Given the description of an element on the screen output the (x, y) to click on. 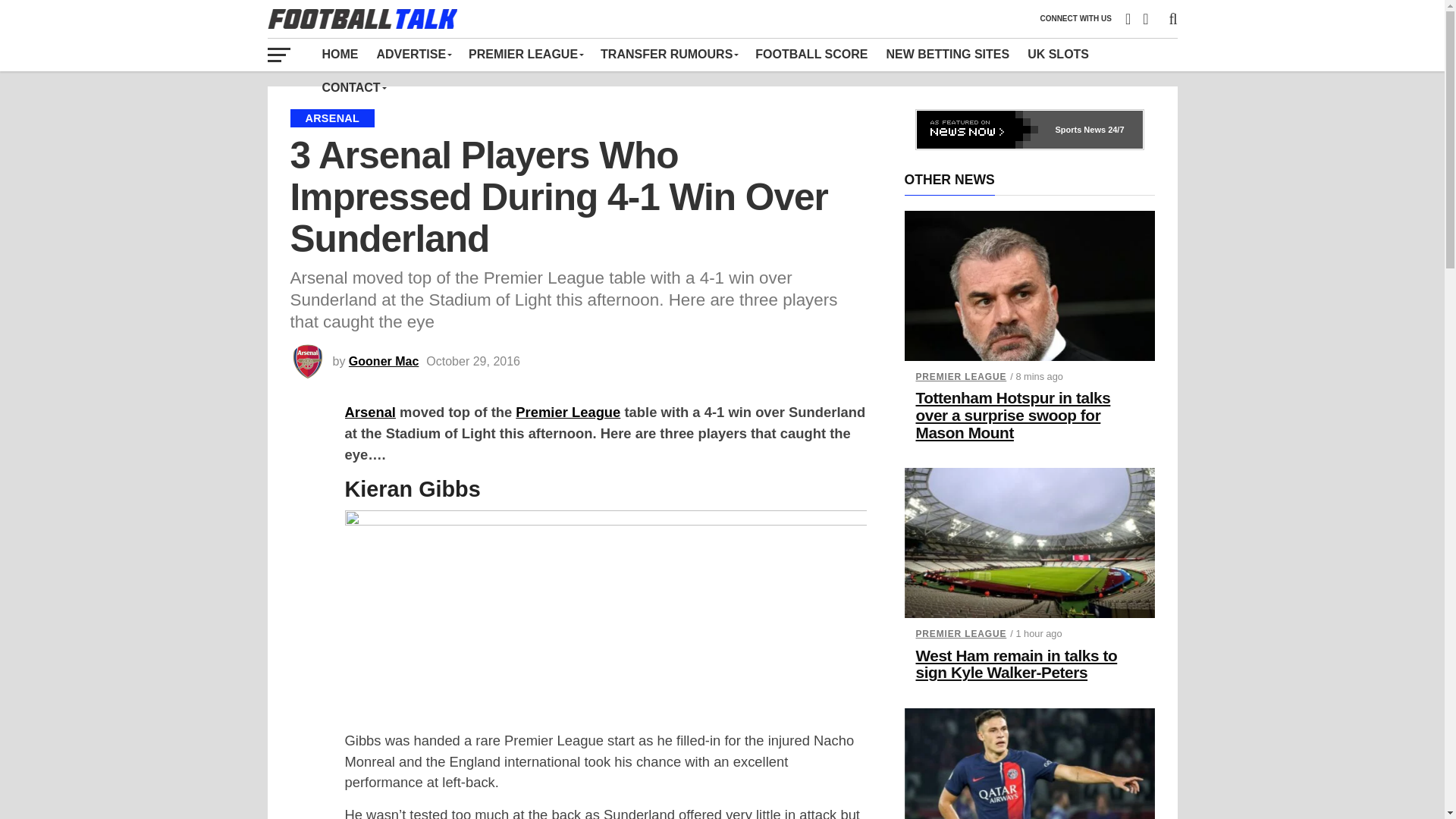
HOME (339, 54)
ADVERTISE (413, 54)
PREMIER LEAGUE (525, 54)
Advertise on Football-Talk (413, 54)
Premier League News (525, 54)
